Given the description of an element on the screen output the (x, y) to click on. 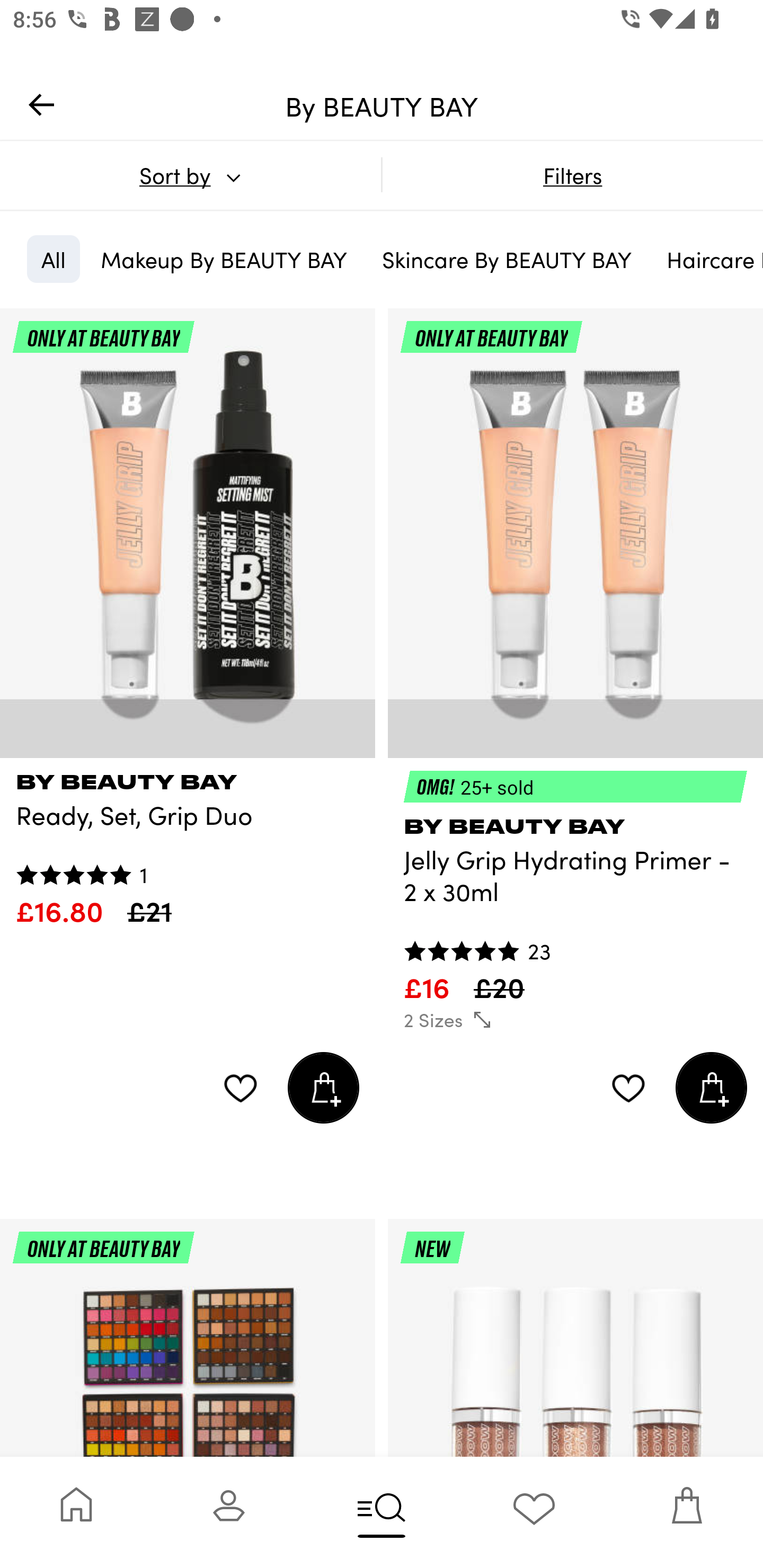
Sort by (190, 174)
Filters (572, 174)
All (53, 258)
Makeup By BEAUTY BAY (223, 258)
Skincare By BEAUTY BAY (506, 258)
Haircare By BEAUTY BAY (707, 258)
BY BEAUTY BAY Ready, Set, Grip Duo 1 £16.80 £21 (187, 843)
